Given the description of an element on the screen output the (x, y) to click on. 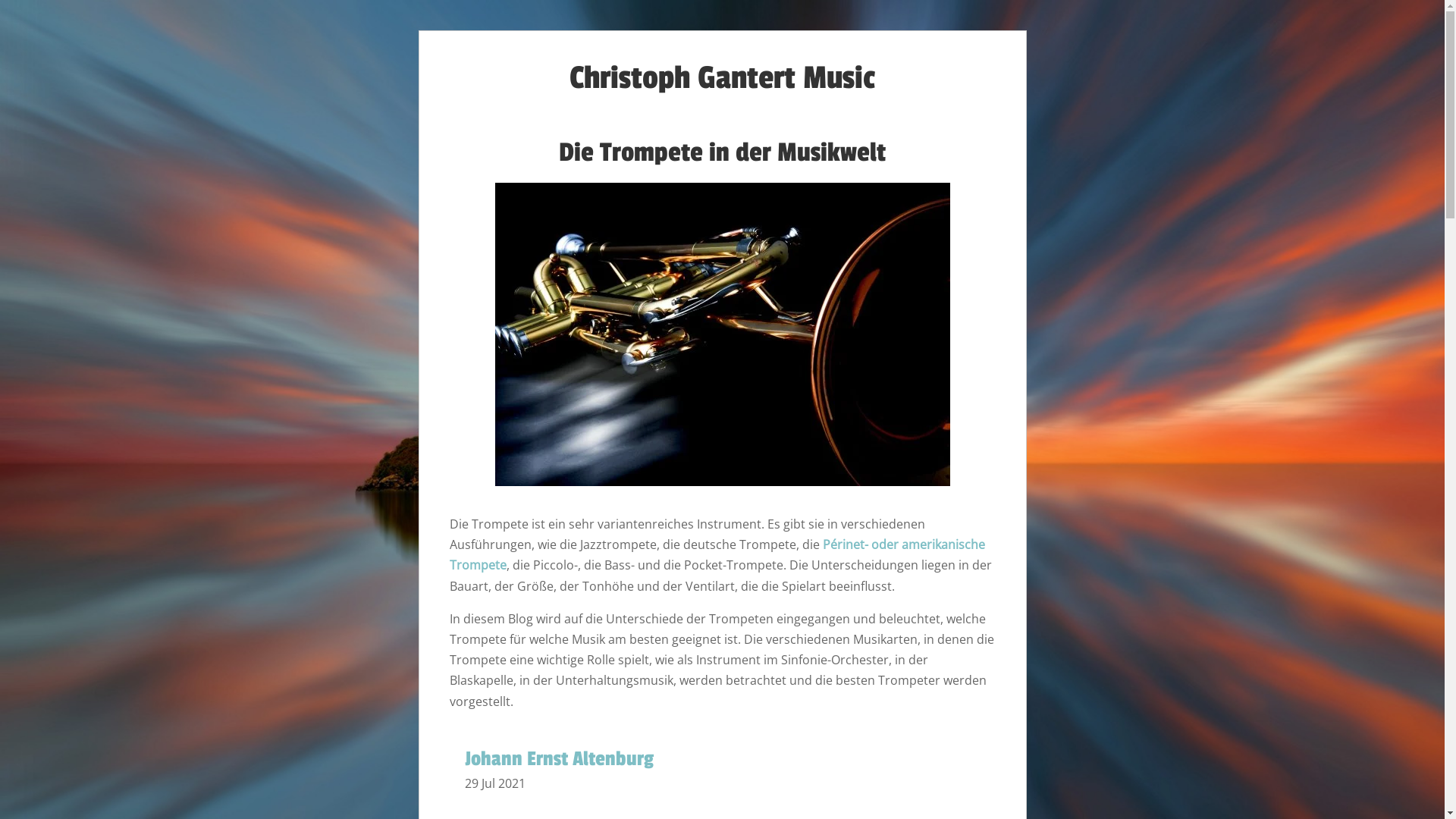
Johann Ernst Altenburg Element type: text (558, 758)
